Given the description of an element on the screen output the (x, y) to click on. 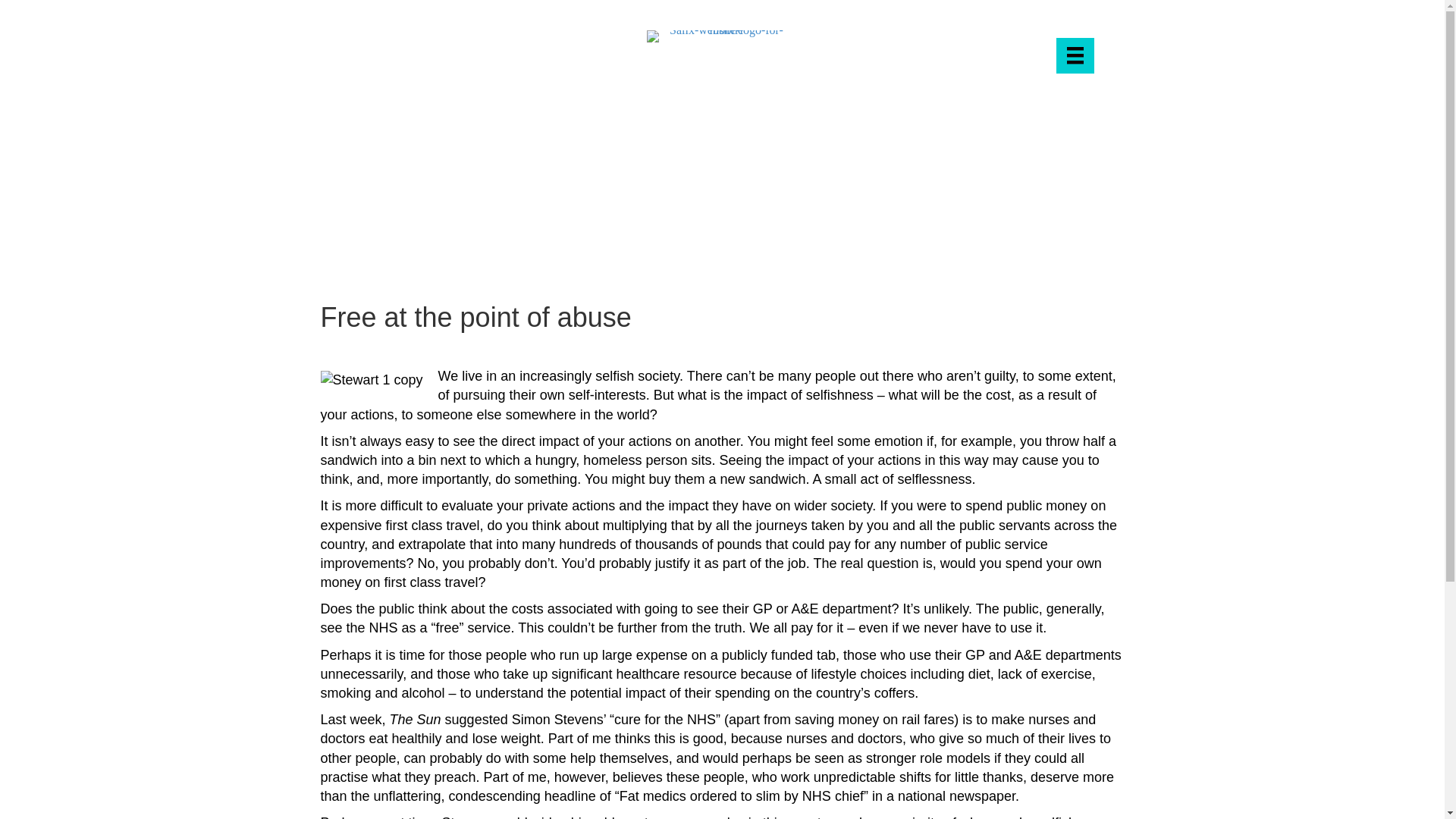
Salix-website-logo-for-mobile (719, 36)
